Given the description of an element on the screen output the (x, y) to click on. 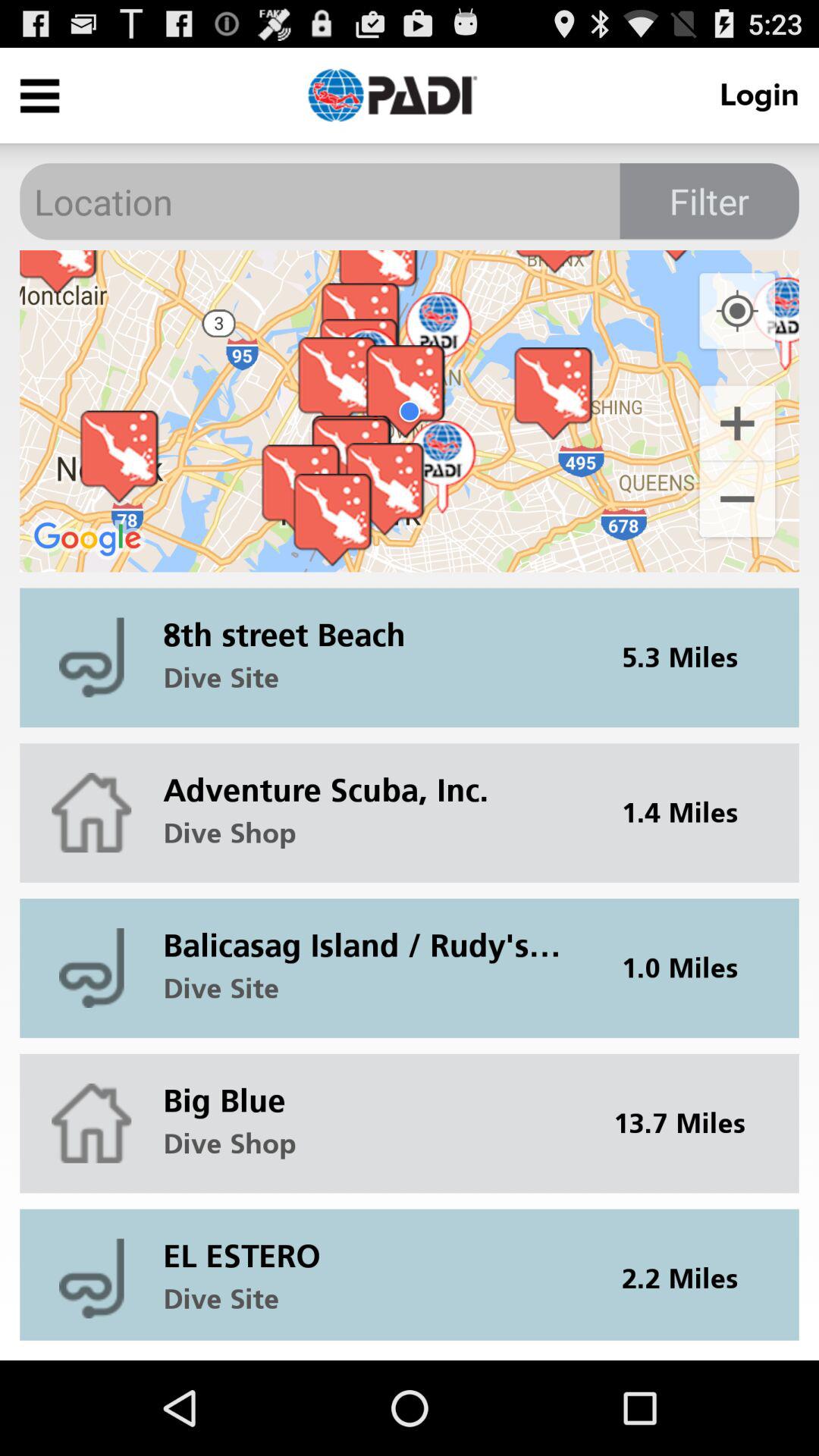
choose the item at the top left corner (39, 95)
